Given the description of an element on the screen output the (x, y) to click on. 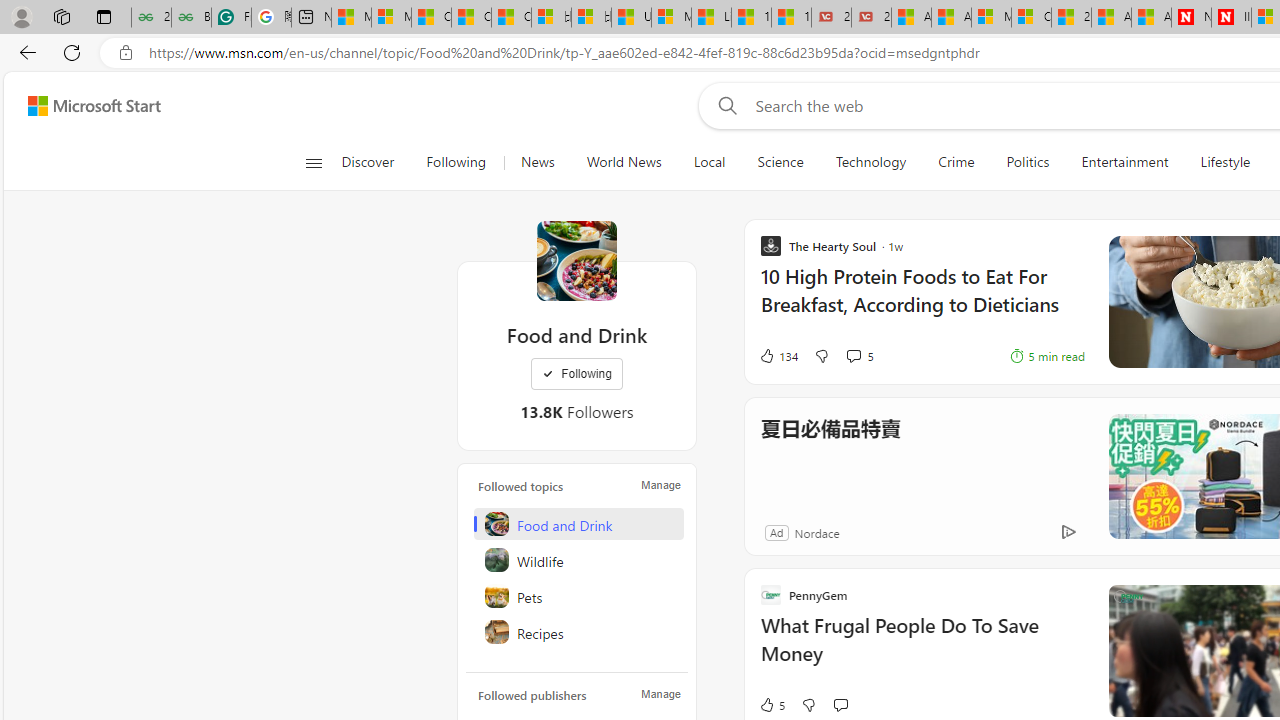
20 Ways to Boost Your Protein Intake at Every Meal (1071, 17)
Class: button-glyph (313, 162)
Pets (578, 596)
Local (708, 162)
5 Like (771, 704)
Start the conversation (840, 704)
Microsoft Start (94, 105)
Personal Profile (21, 16)
21 Movies That Outdid the Books They Were Based On (871, 17)
Start the conversation (840, 704)
View site information (125, 53)
View comments 5 Comment (852, 355)
Lifestyle (1225, 162)
